Given the description of an element on the screen output the (x, y) to click on. 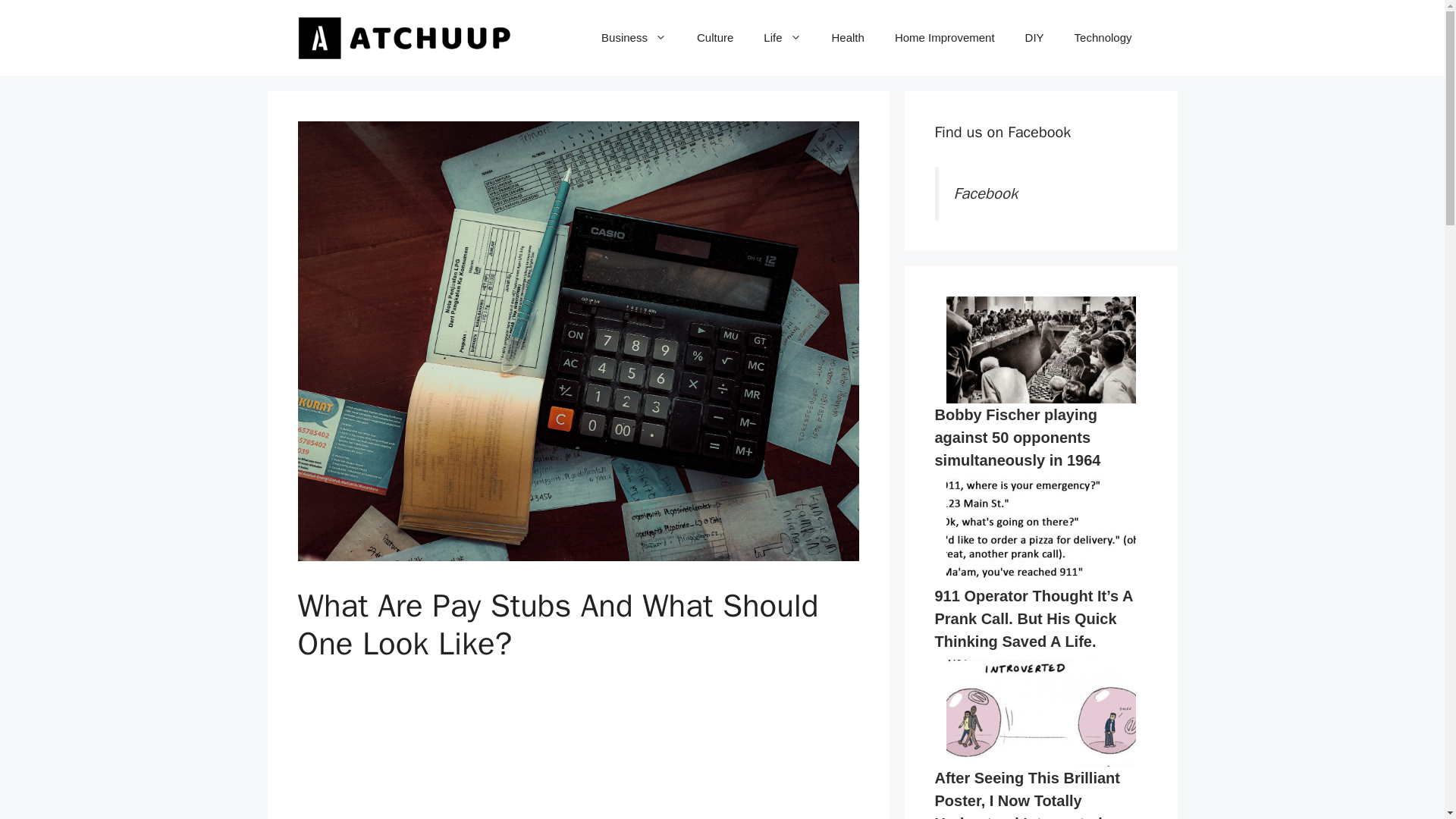
Advertisement (578, 754)
Business (633, 37)
Life (781, 37)
Facebook (985, 193)
Home Improvement (944, 37)
Culture (714, 37)
DIY (1034, 37)
Health (847, 37)
Technology (1103, 37)
